Given the description of an element on the screen output the (x, y) to click on. 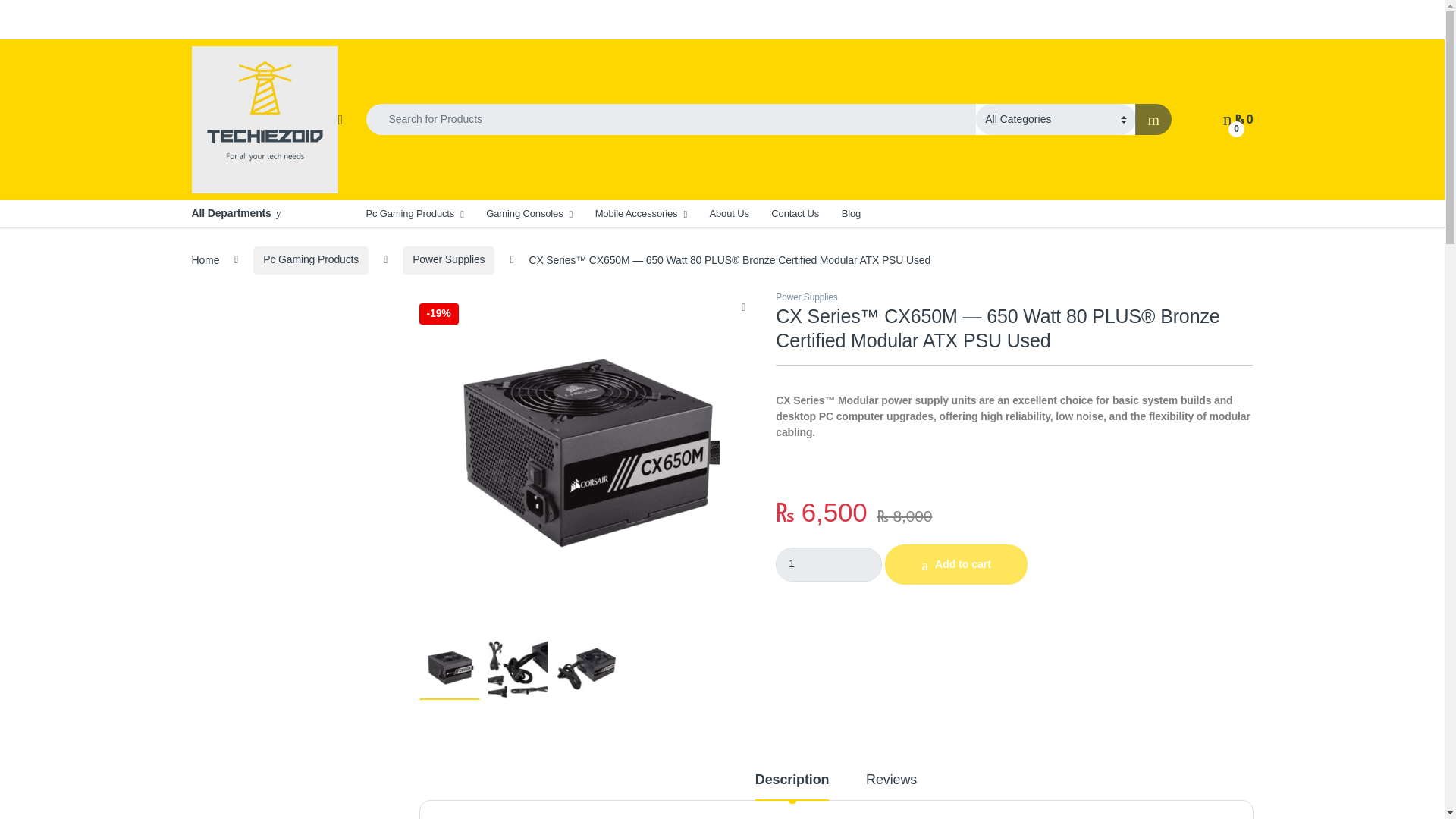
All Departments (266, 212)
Pc Gaming Products (414, 212)
1 (829, 564)
